Given the description of an element on the screen output the (x, y) to click on. 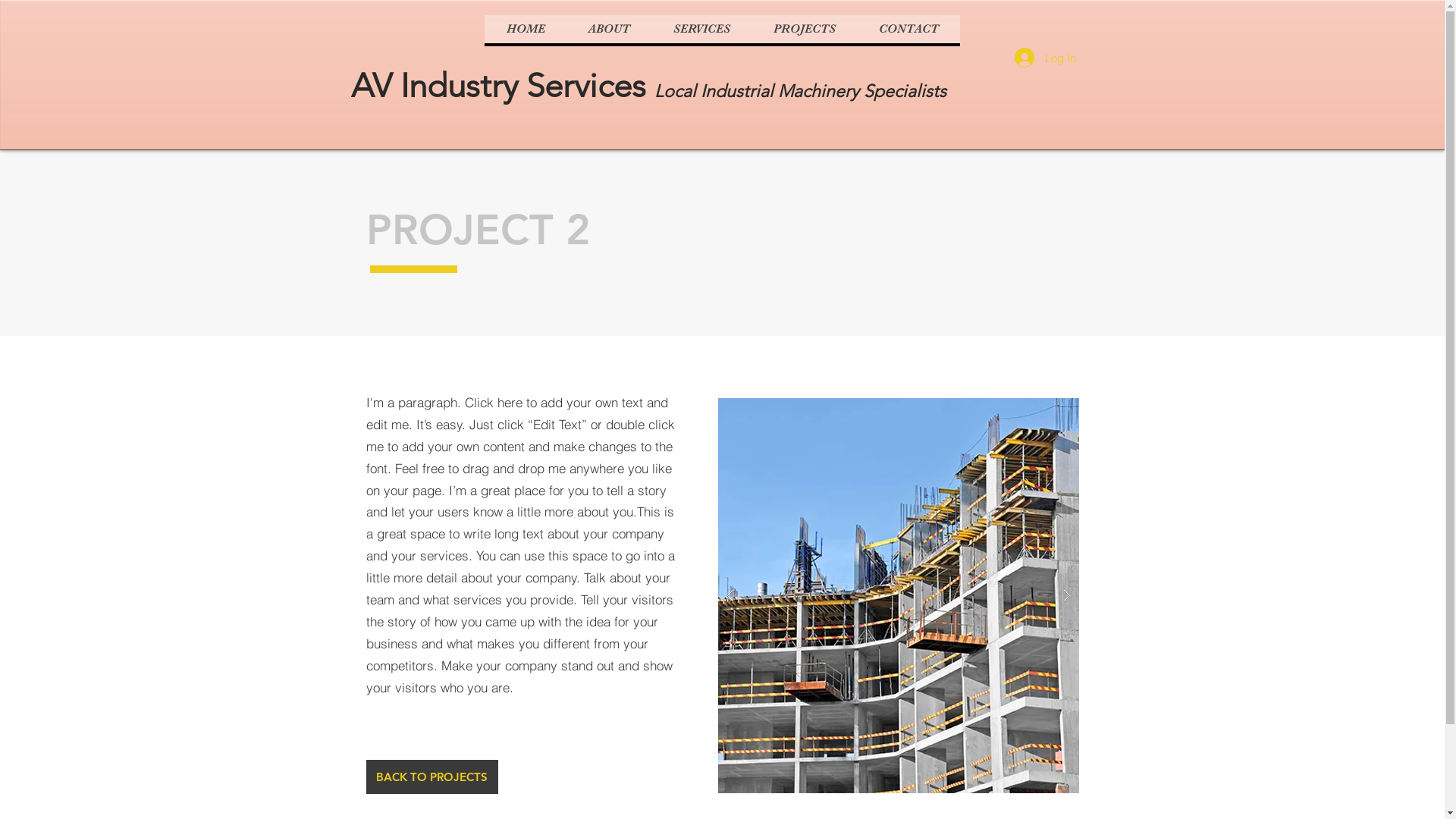
BACK TO PROJECTS Element type: text (431, 776)
PROJECTS Element type: text (803, 29)
Log In Element type: text (1045, 57)
HOME Element type: text (525, 29)
SERVICES Element type: text (701, 29)
ABOUT Element type: text (608, 29)
CONTACT Element type: text (908, 29)
